Given the description of an element on the screen output the (x, y) to click on. 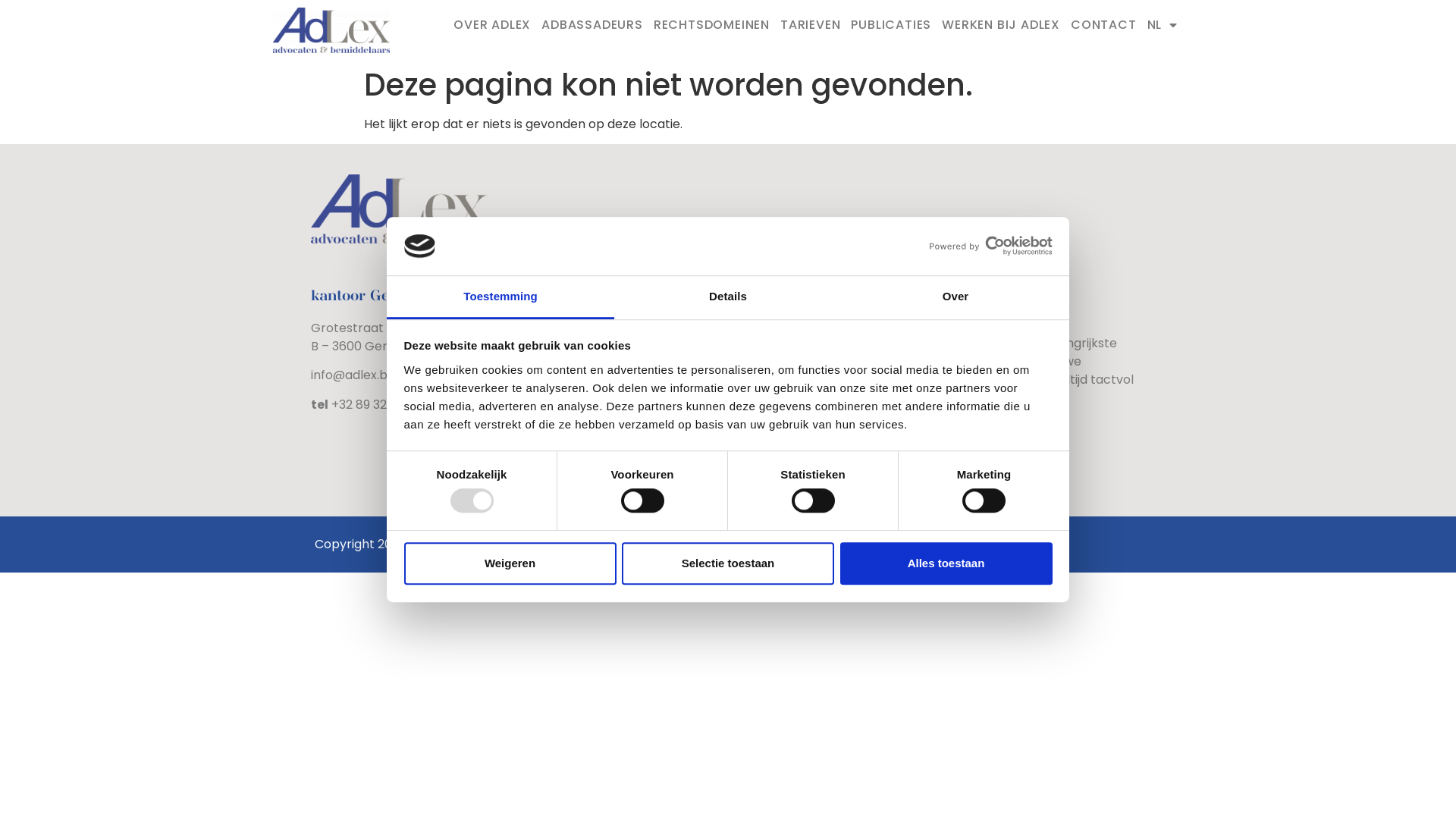
PUBLICATIES Element type: text (890, 24)
WERKEN BIJ ADLEX Element type: text (1000, 24)
NL Element type: text (1162, 24)
Privacy Policy Element type: text (495, 543)
Alles toestaan Element type: text (946, 563)
OVER ADLEX Element type: text (492, 24)
Weigeren Element type: text (509, 563)
TARIEVEN Element type: text (810, 24)
Over Element type: text (955, 297)
Toestemming Element type: text (500, 297)
ADBASSADEURS Element type: text (592, 24)
Hands Element type: text (638, 543)
Details Element type: text (727, 297)
Selectie toestaan Element type: text (727, 563)
logo Element type: hover (331, 30)
CONTACT Element type: text (1103, 24)
RECHTSDOMEINEN Element type: text (711, 24)
